Given the description of an element on the screen output the (x, y) to click on. 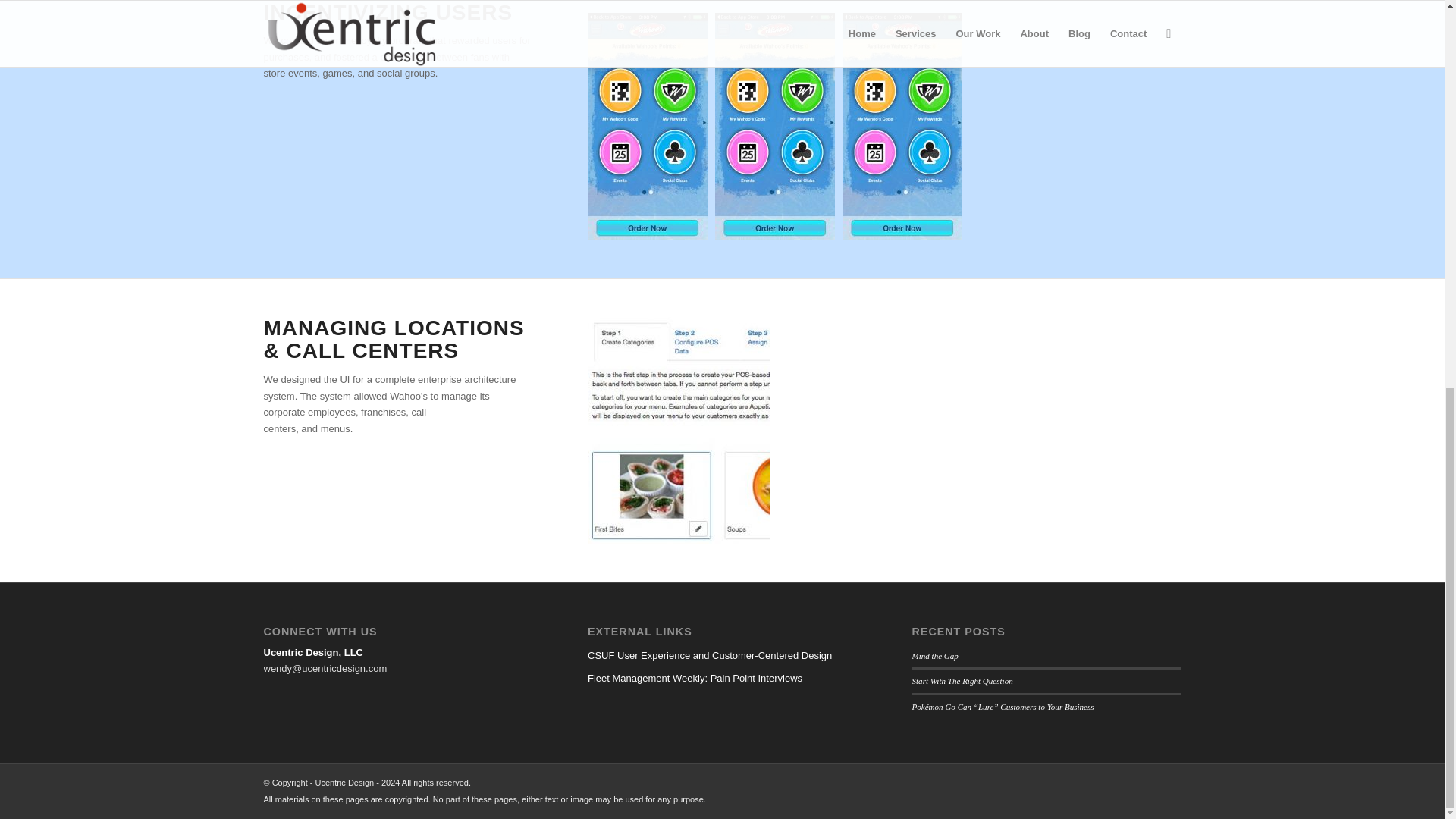
CSUF User Experience and Customer-Centered Design (722, 655)
Mind the Gap (935, 655)
Start With The Right Question (962, 680)
Fleet Management Weekly: Pain Point Interviews (722, 678)
